Given the description of an element on the screen output the (x, y) to click on. 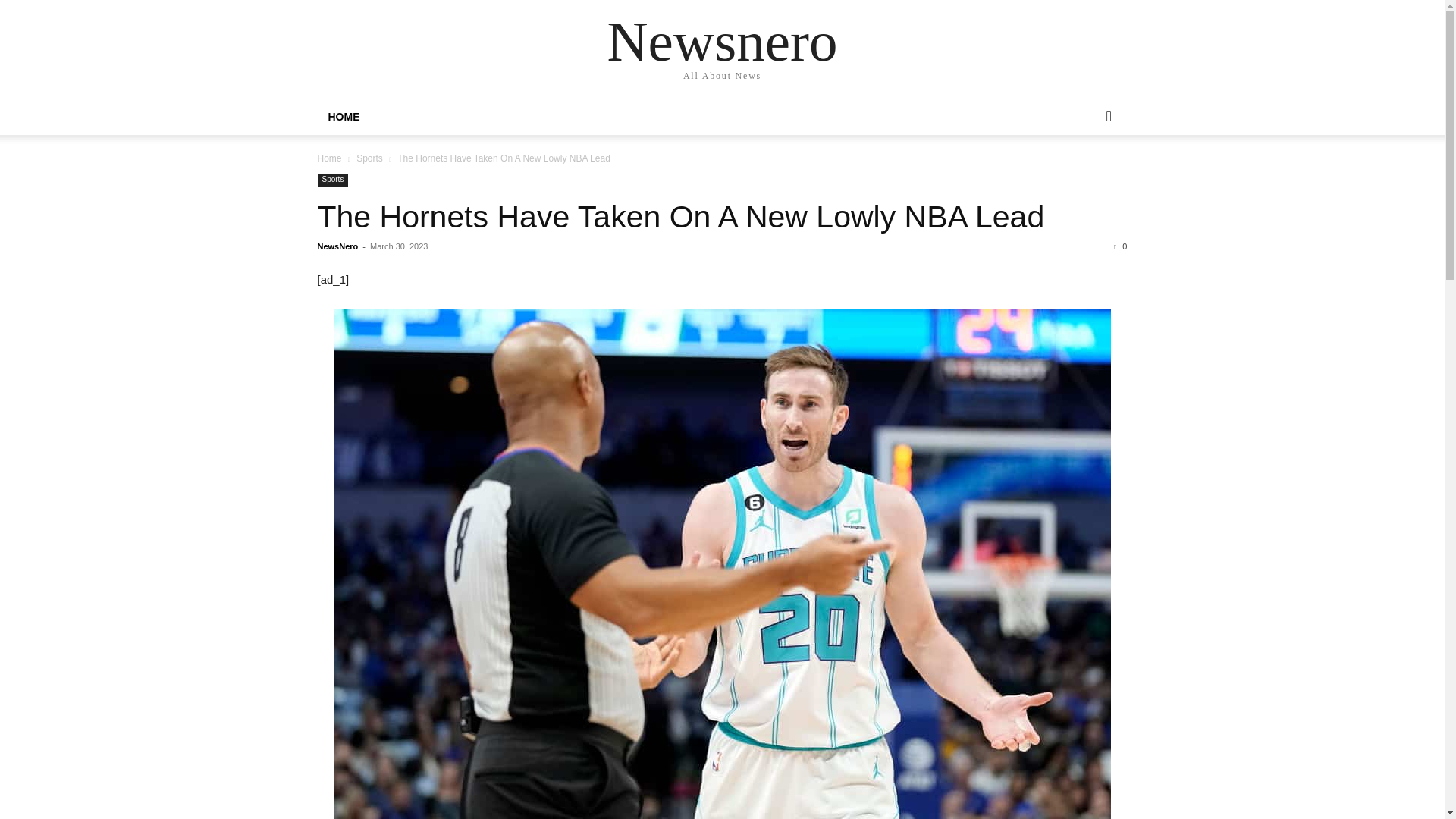
The Hornets Have Taken On A New Lowly NBA Lead (680, 216)
HOME (343, 116)
Home (328, 158)
Sports (332, 179)
Newsnero (722, 41)
Search (1085, 177)
0 (1119, 245)
NewsNero (337, 245)
The Hornets Have Taken On A New Lowly NBA Lead (680, 216)
View all posts in Sports (369, 158)
Sports (369, 158)
